Given the description of an element on the screen output the (x, y) to click on. 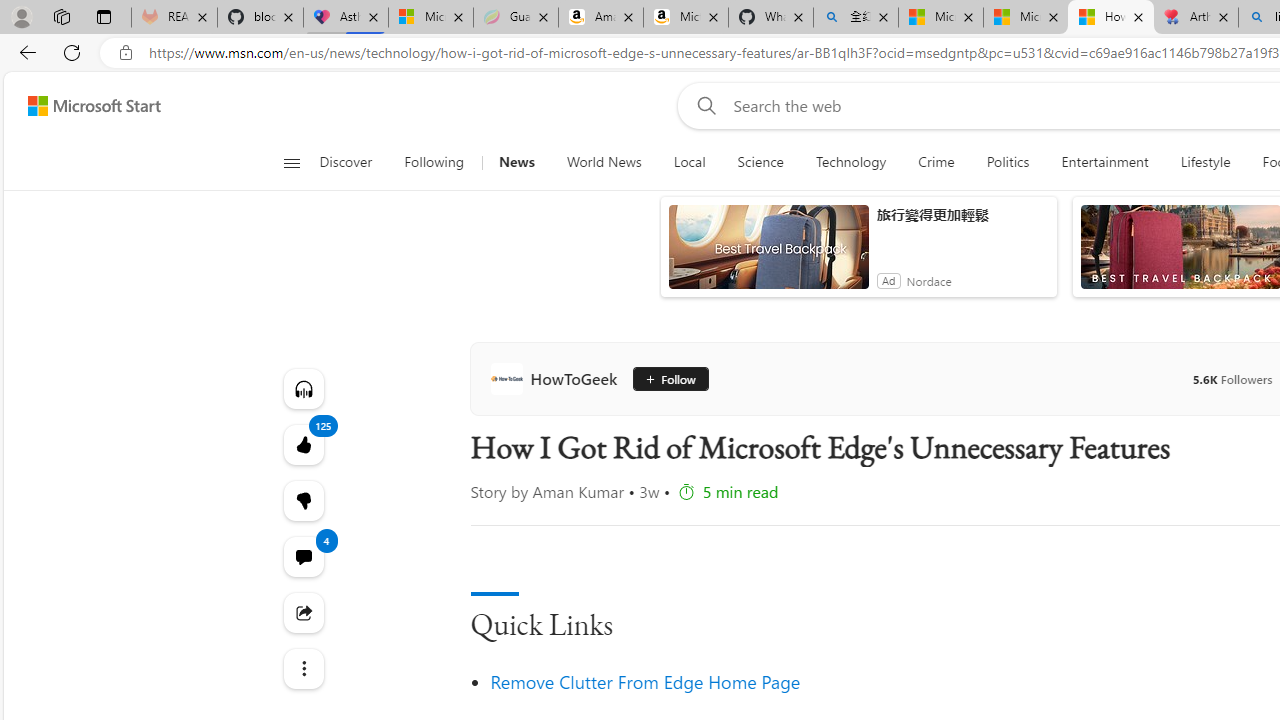
How I Got Rid of Microsoft Edge's Unnecessary Features (1110, 17)
Ad (888, 280)
Technology (850, 162)
anim-content (768, 255)
Technology (851, 162)
Politics (1007, 162)
Remove Clutter From Edge Home Page (645, 682)
Skip to footer (82, 105)
Follow (667, 378)
News (516, 162)
Following (434, 162)
Refresh (72, 52)
